Given the description of an element on the screen output the (x, y) to click on. 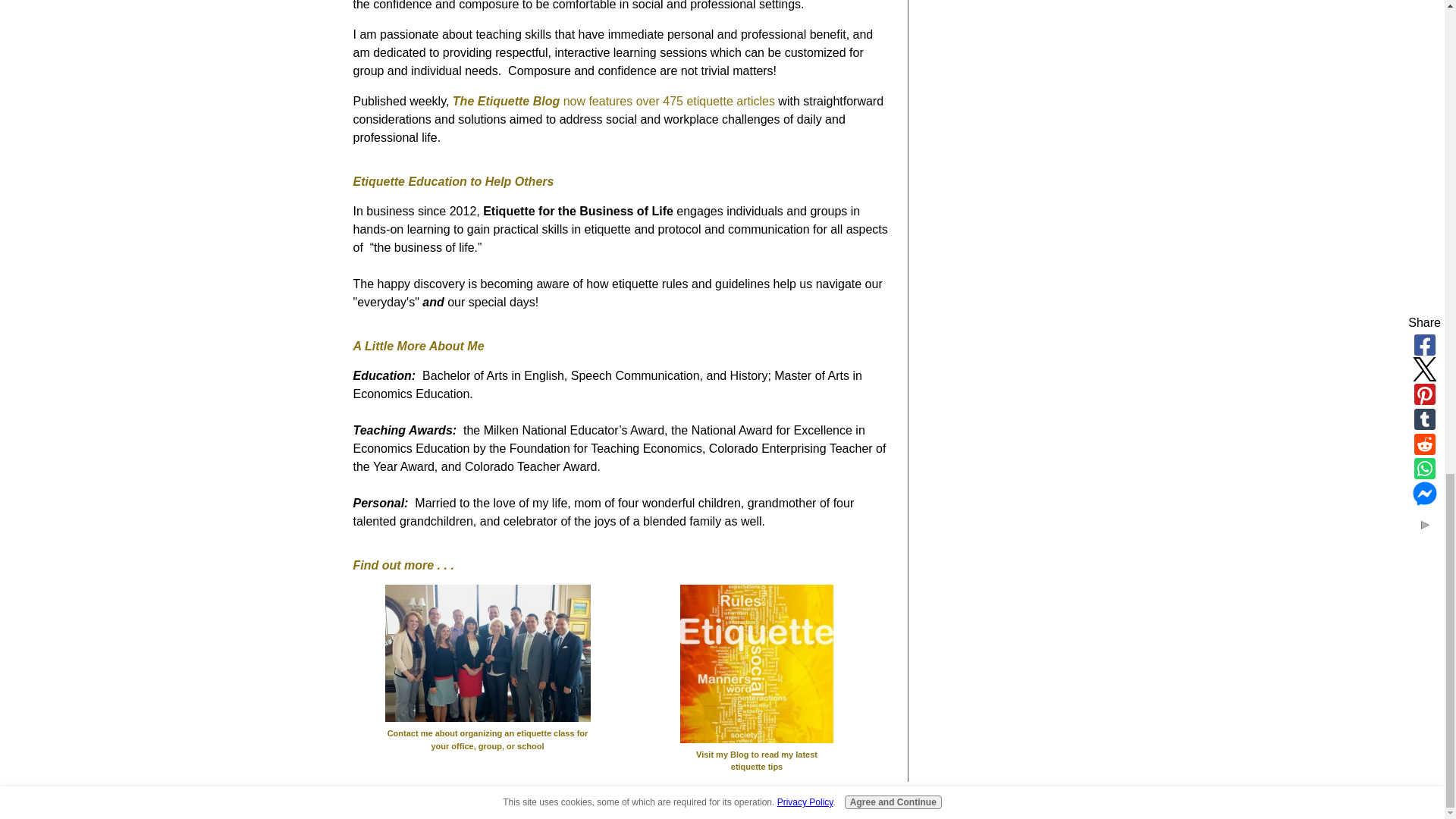
over 475 etiquette articles (705, 101)
Go to The Etiquette Blog (756, 752)
Etiquette Rules (755, 663)
Go to Etiquette Classes that Build Confidence (487, 731)
now features  (599, 101)
Etiquette Class (488, 653)
The Etiquette Blog (507, 101)
